Given the description of an element on the screen output the (x, y) to click on. 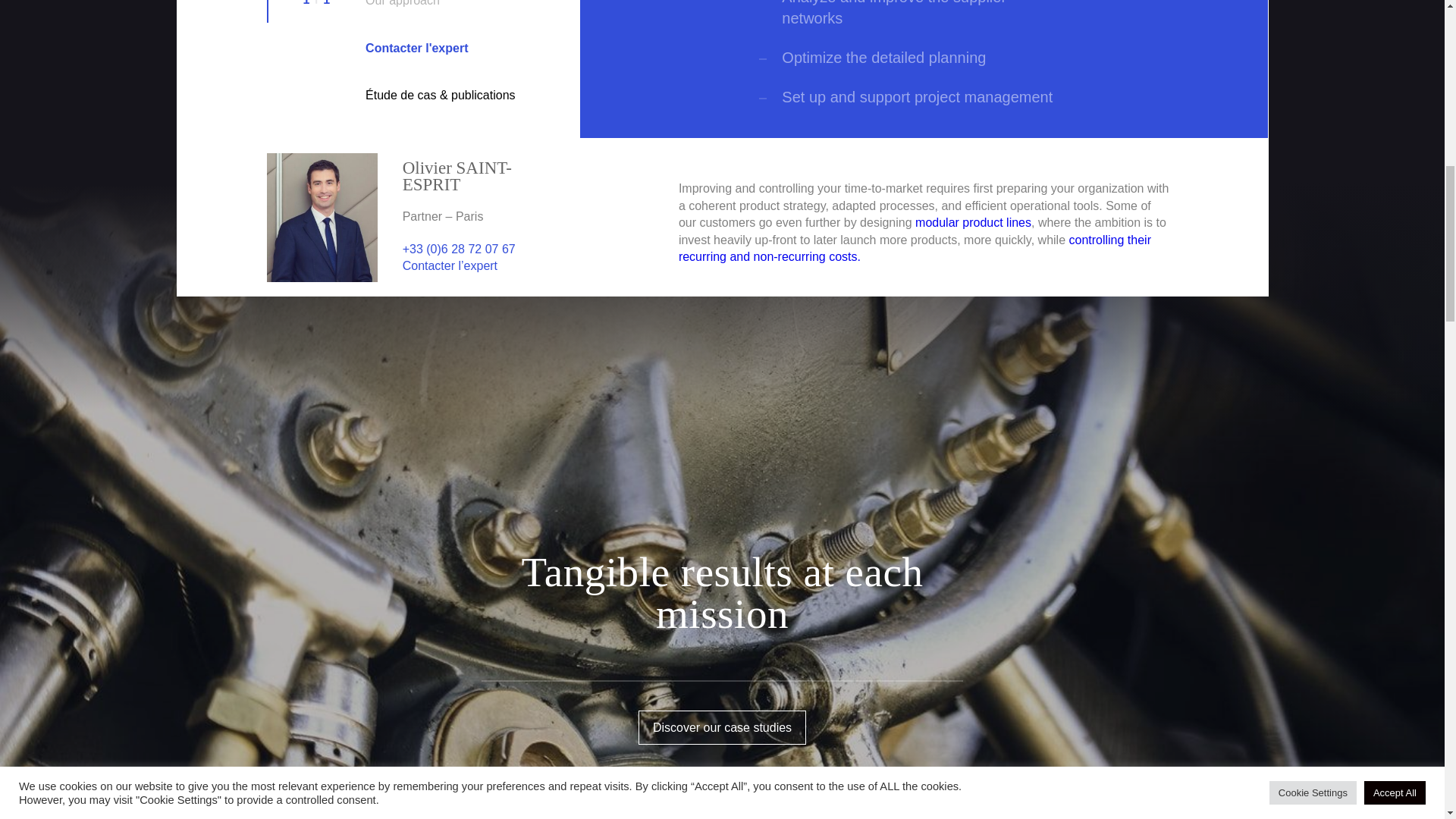
modular product lines (972, 222)
Discover our case studies (722, 727)
controlling their recurring and non-recurring costs. (914, 247)
